Given the description of an element on the screen output the (x, y) to click on. 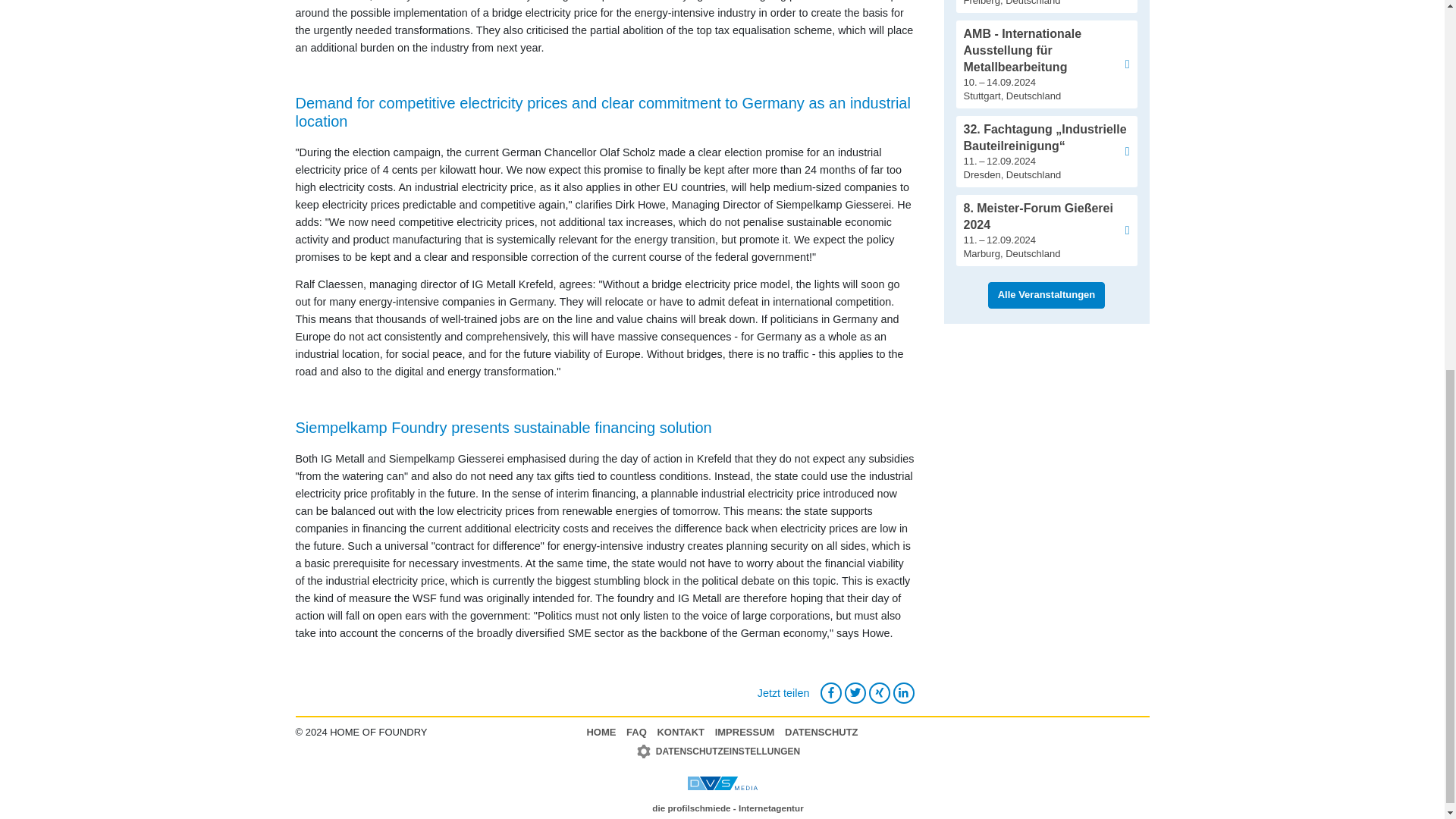
IMPRESSUM (744, 732)
FAQ (636, 732)
Alle Veranstaltungen (1046, 294)
DATENSCHUTZ (821, 732)
HOME (600, 732)
KONTAKT (680, 732)
